Given the description of an element on the screen output the (x, y) to click on. 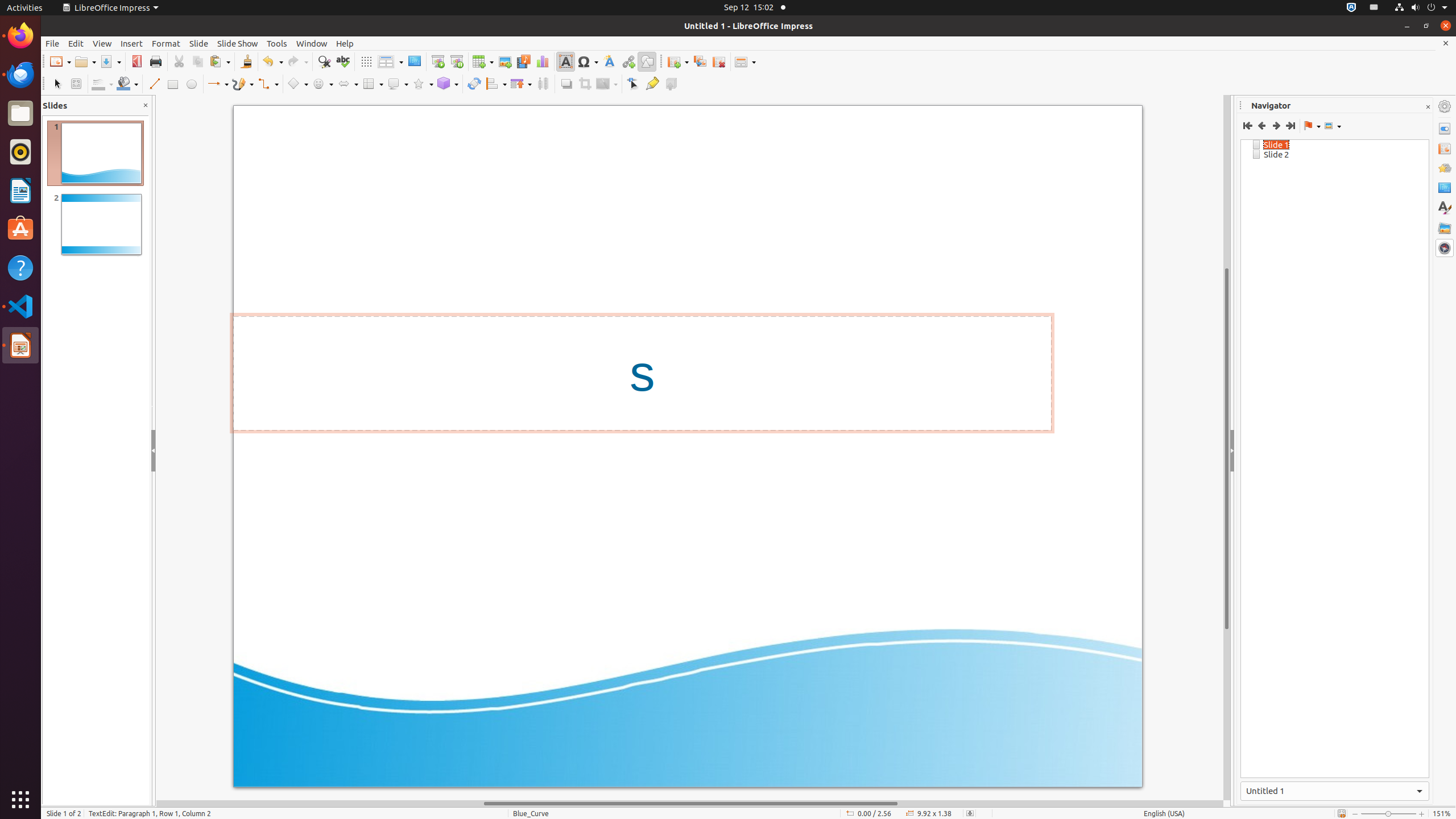
Filter Element type: push-button (606, 83)
Delete Slide Element type: push-button (718, 61)
View Element type: menu (102, 43)
Clone Element type: push-button (245, 61)
